Given the description of an element on the screen output the (x, y) to click on. 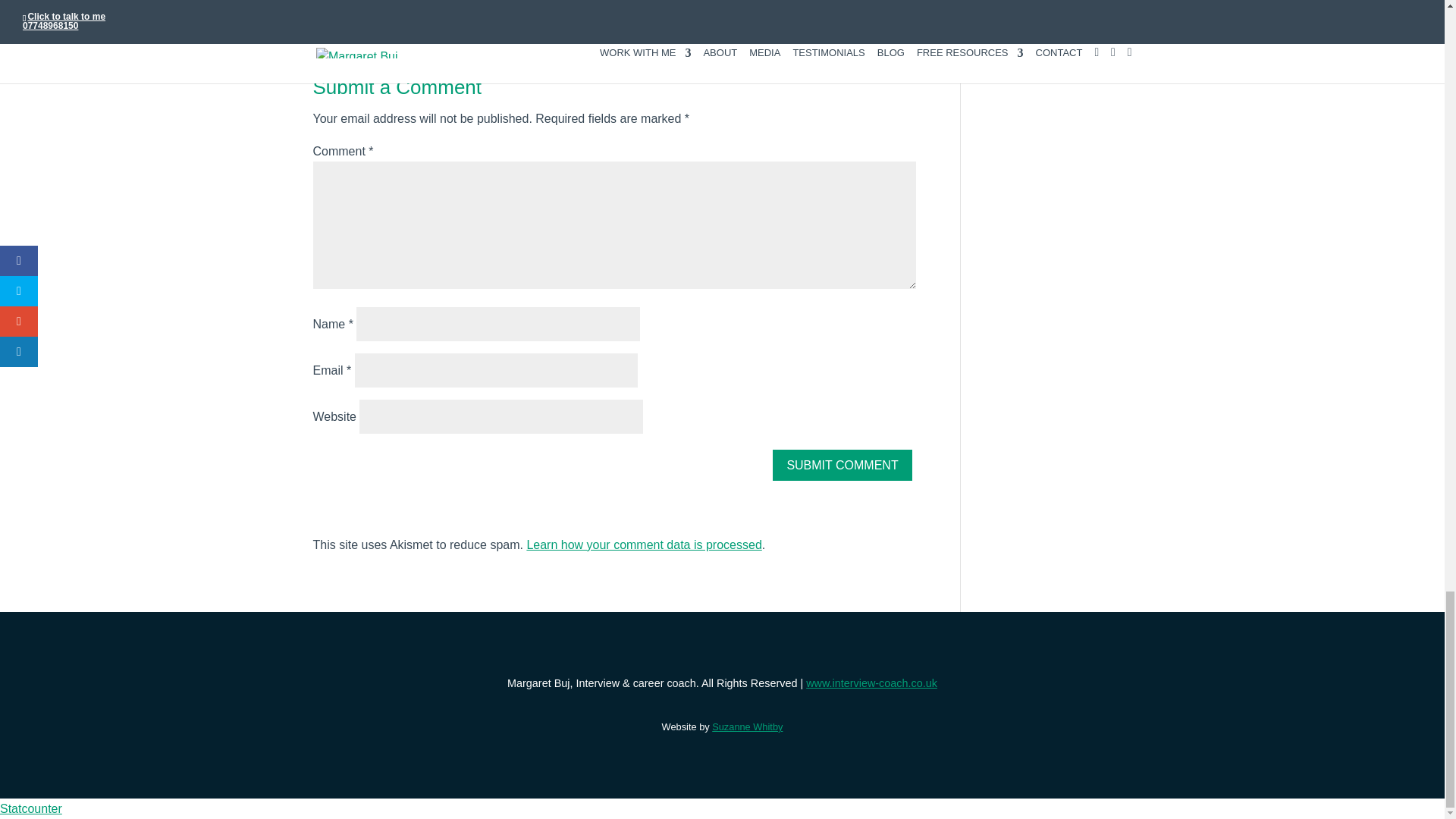
Learn how your comment data is processed (643, 544)
Submit Comment (842, 464)
Submit Comment (842, 464)
